Given the description of an element on the screen output the (x, y) to click on. 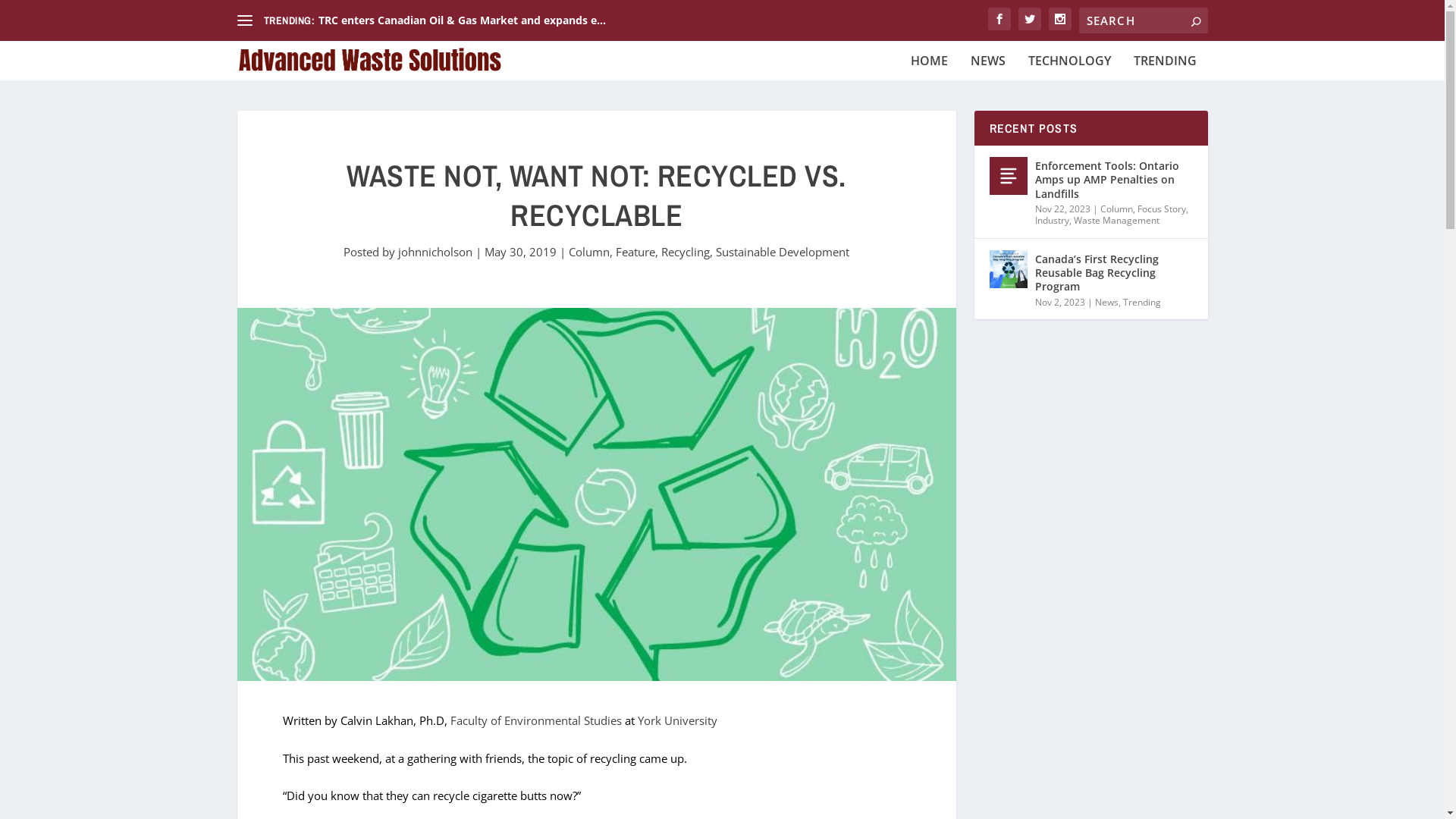
TRENDING Element type: text (1163, 60)
johnnicholson Element type: text (435, 251)
Recycling Element type: text (685, 251)
Faculty of Environmental Studies  Element type: text (537, 720)
Sustainable Development Element type: text (782, 251)
NEWS Element type: text (987, 60)
Trending Element type: text (1141, 301)
Waste Management Element type: text (1116, 219)
Industry Element type: text (1051, 219)
York University Element type: text (676, 720)
Column Element type: text (1115, 208)
TRC enters Canadian Oil & Gas Market and expands e... Element type: text (461, 19)
Search for: Element type: hover (1142, 20)
News Element type: text (1106, 301)
HOME Element type: text (928, 60)
Feature Element type: text (635, 251)
Column Element type: text (588, 251)
TECHNOLOGY Element type: text (1069, 60)
Focus Story Element type: text (1161, 208)
